Given the description of an element on the screen output the (x, y) to click on. 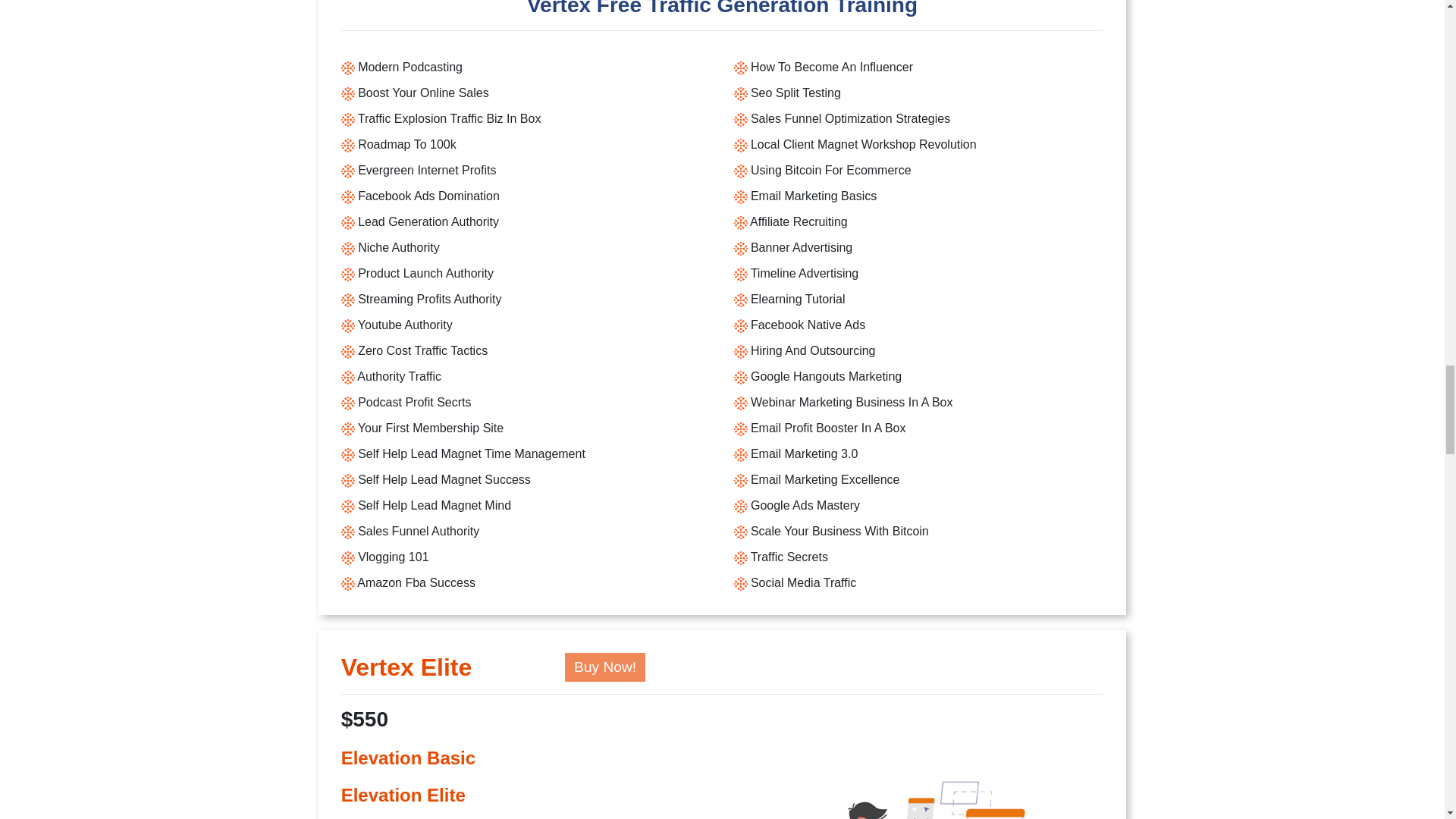
Buy Now! (604, 666)
